Given the description of an element on the screen output the (x, y) to click on. 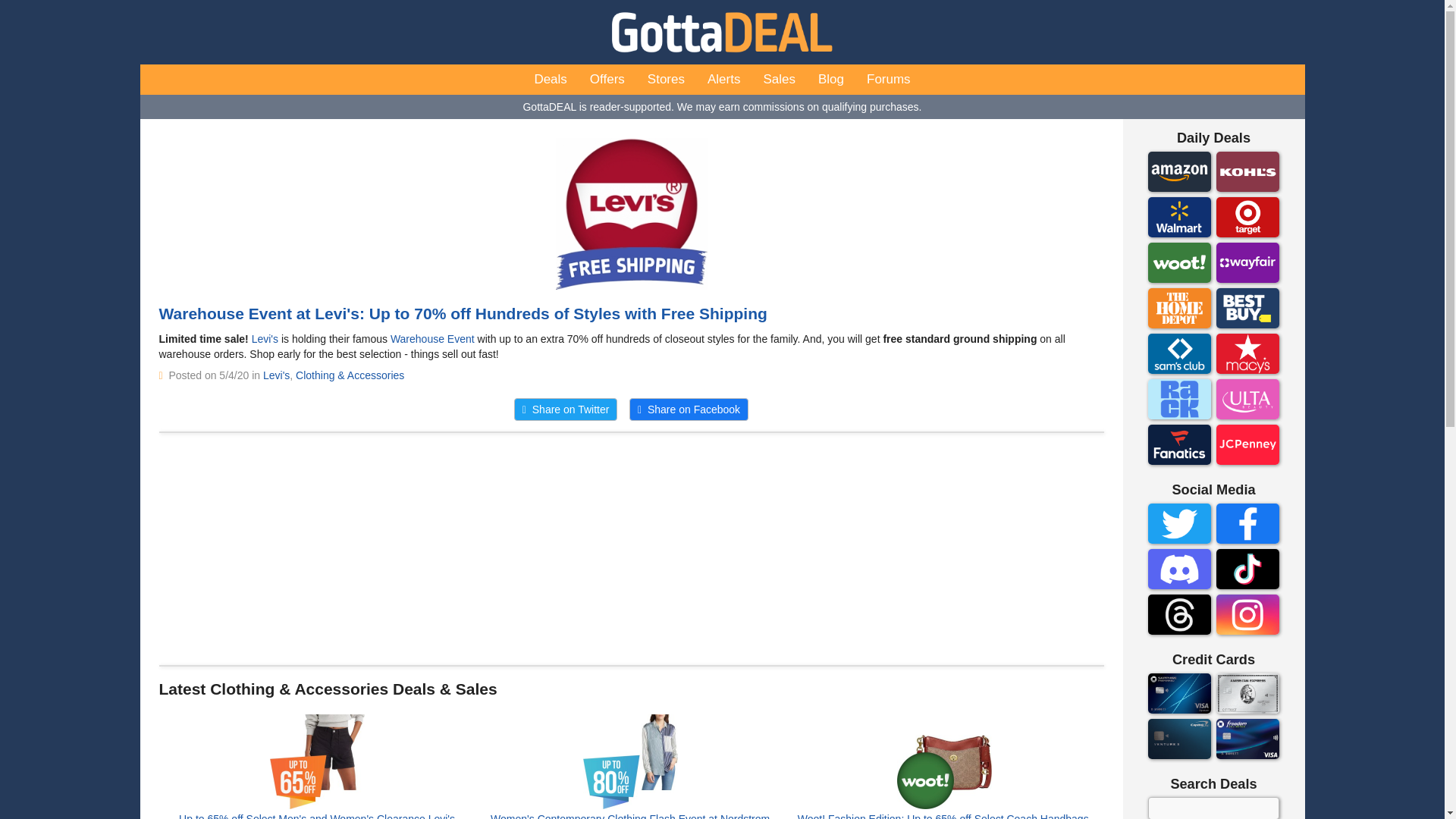
Levi's (276, 375)
Offers (607, 79)
Levi's (264, 338)
Alerts (723, 79)
Sales (778, 79)
  Share on Twitter (565, 409)
Stores (665, 79)
  Share on Facebook (688, 409)
Blog (831, 79)
